Given the description of an element on the screen output the (x, y) to click on. 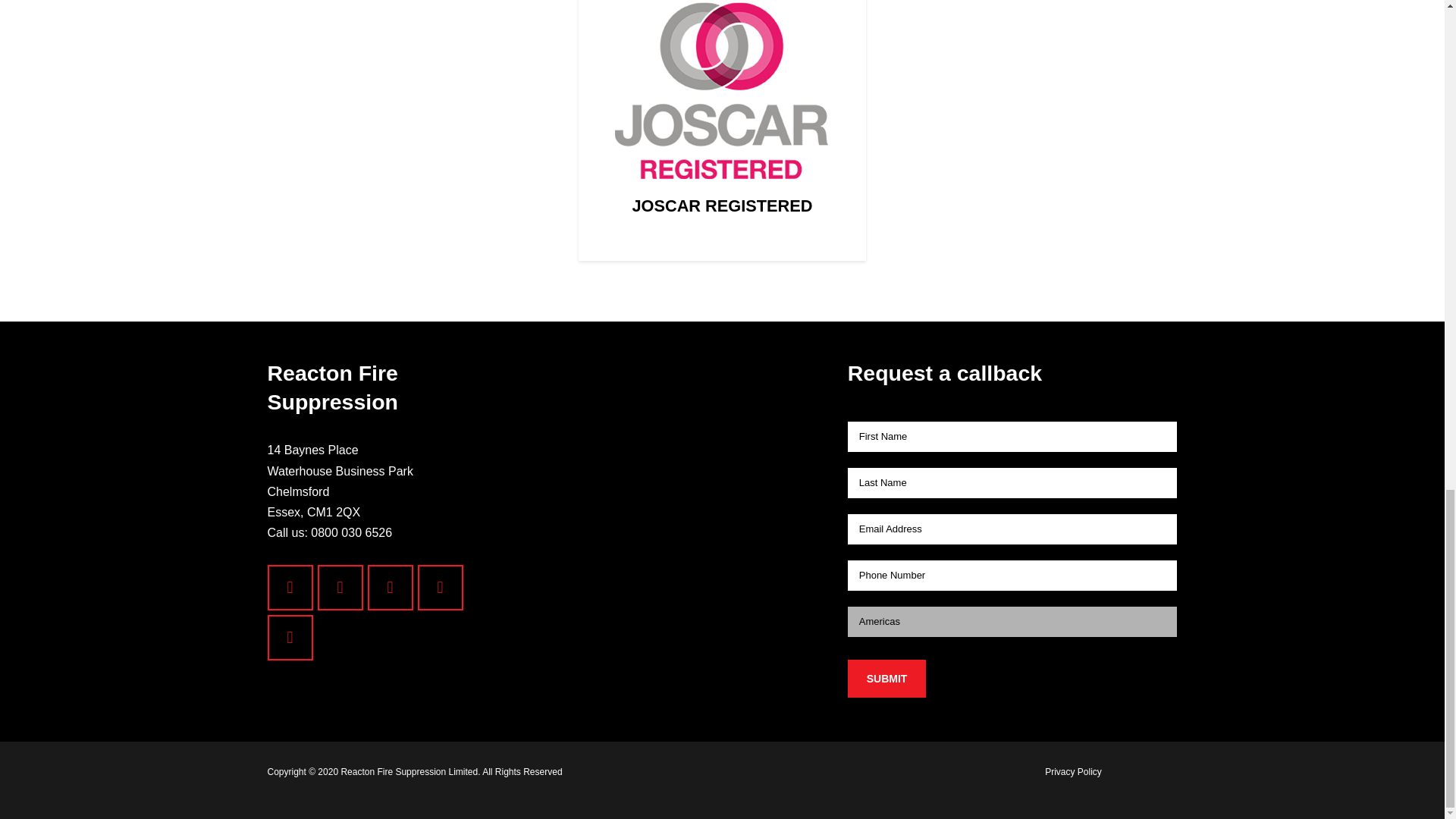
JOSCAR-Registered-logo-e1628957046501 (722, 97)
Submit (886, 678)
